Given the description of an element on the screen output the (x, y) to click on. 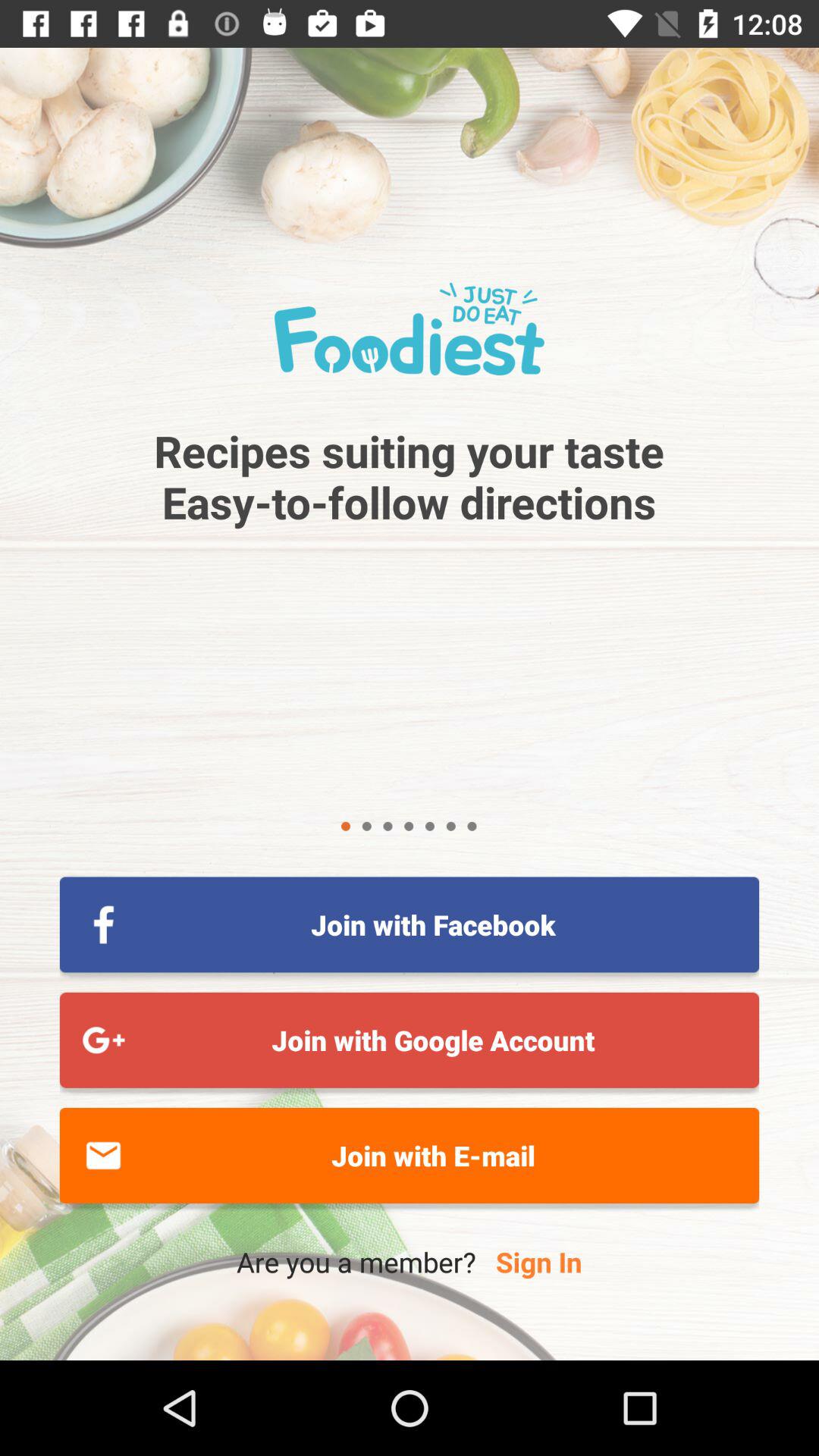
choose icon next to the are you a item (538, 1261)
